Given the description of an element on the screen output the (x, y) to click on. 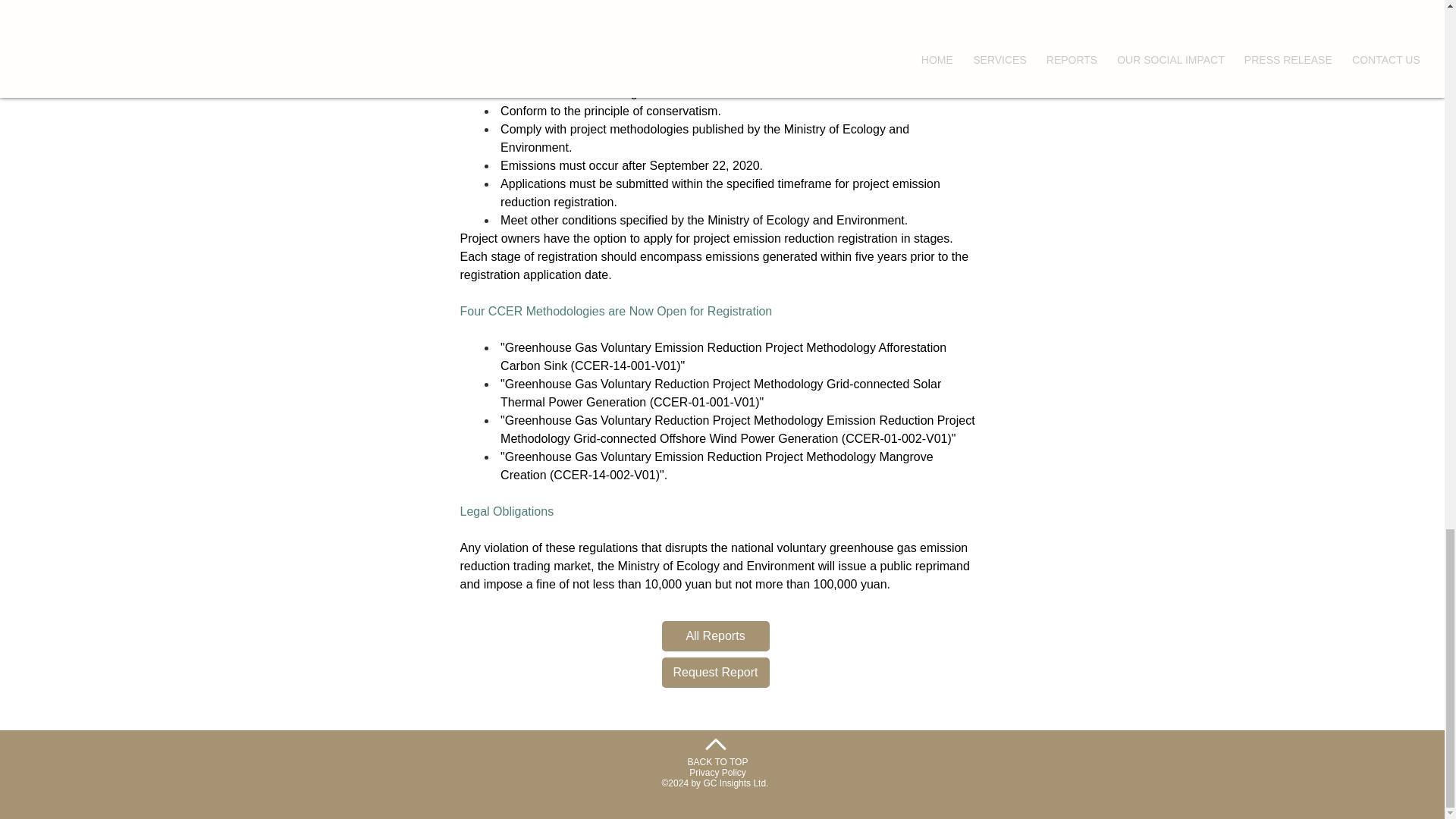
All Reports (714, 635)
Request Report (714, 672)
